Given the description of an element on the screen output the (x, y) to click on. 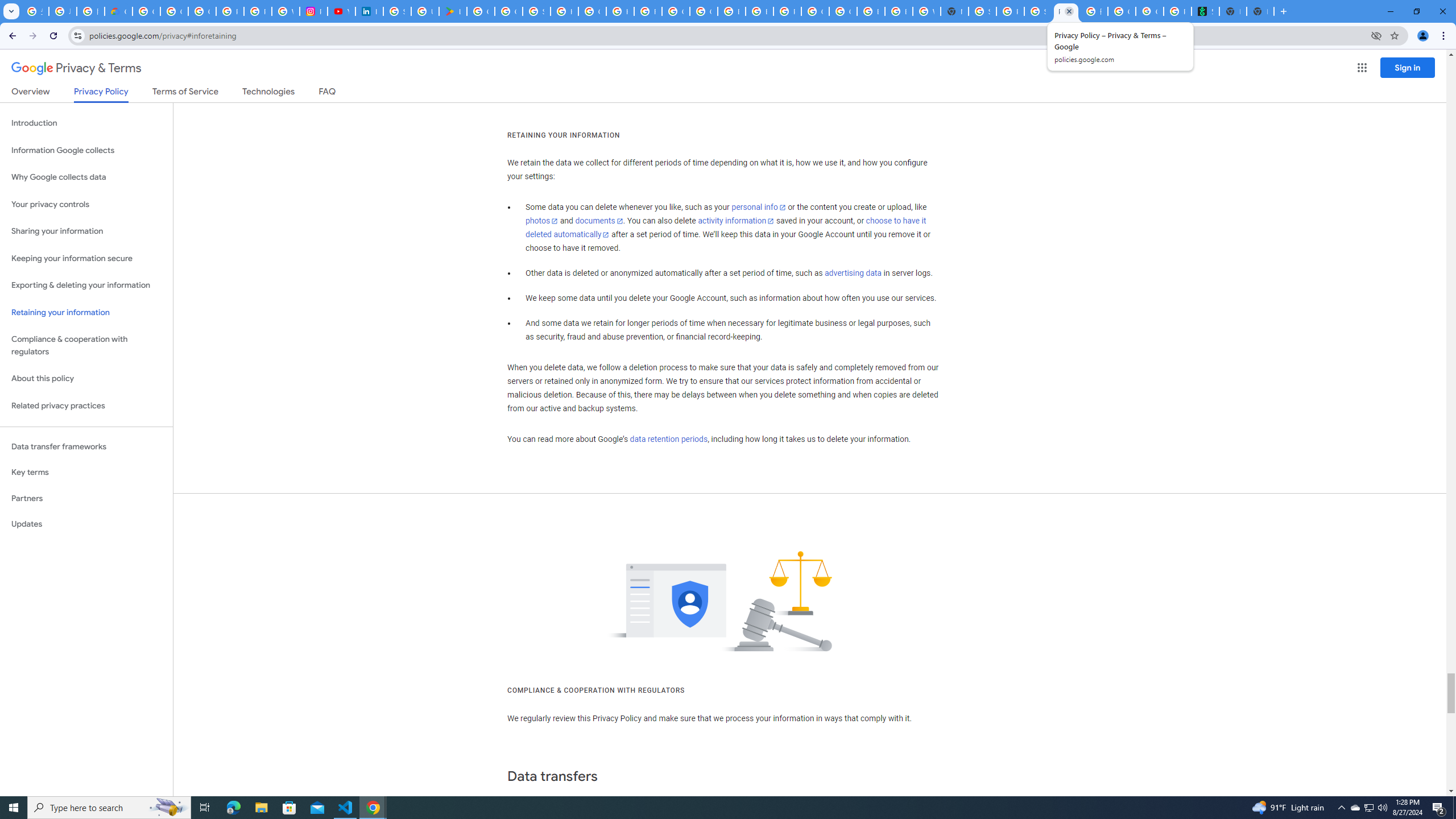
Sign in (1407, 67)
Partners (86, 497)
Privacy Policy (100, 94)
Data transfer frameworks (86, 446)
advertising data (852, 273)
choose to have it deleted automatically (725, 227)
New Tab (955, 11)
Address and search bar (726, 35)
